Given the description of an element on the screen output the (x, y) to click on. 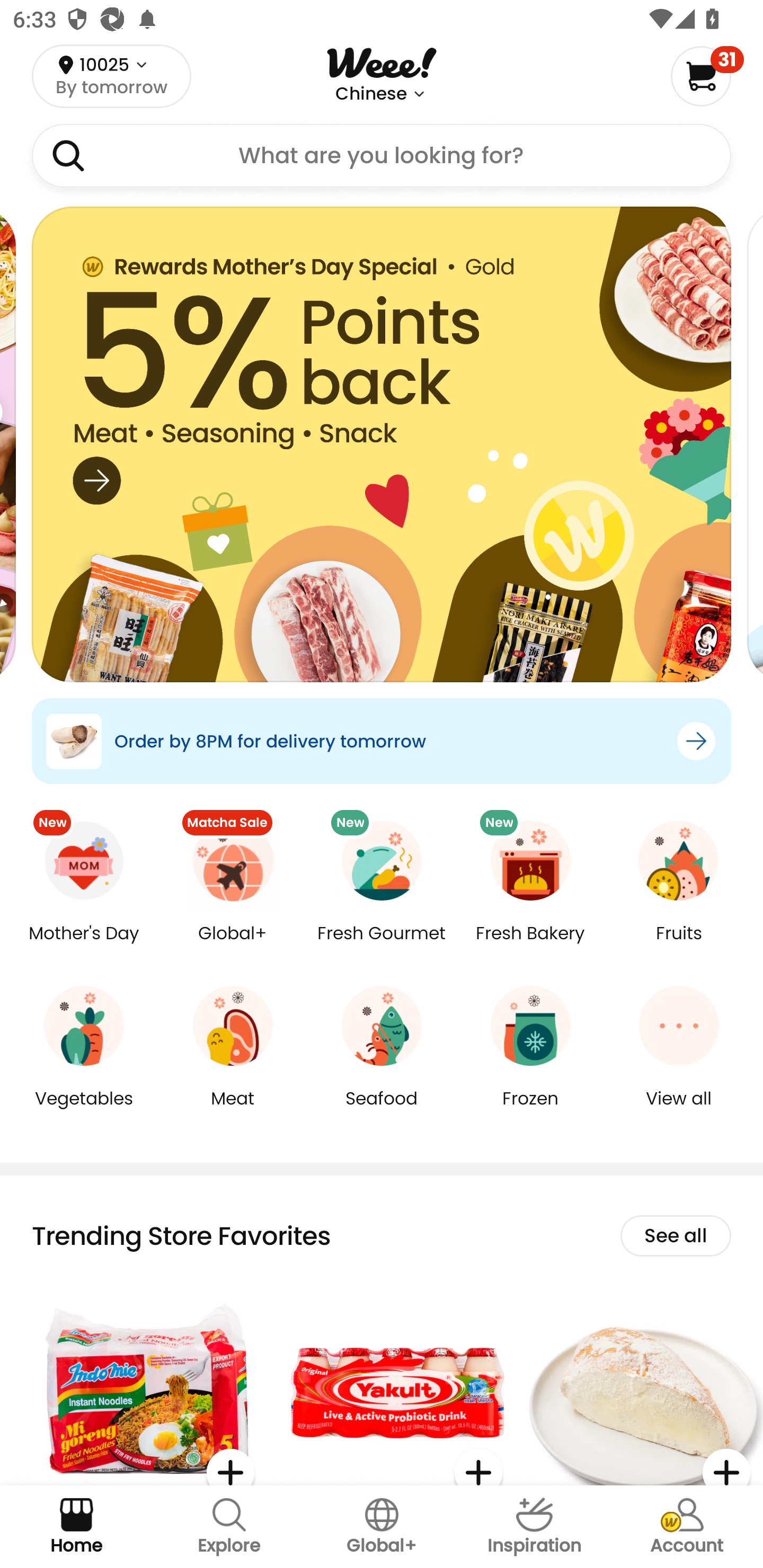
10025 By tomorrow (111, 75)
31 (706, 75)
Chinese (370, 93)
What are you looking for? (381, 155)
Order by 8PM for delivery tomorrow (381, 740)
Mother's Day (83, 946)
Global+ (232, 946)
Fresh Gourmet (381, 946)
Fresh Bakery (530, 946)
Fruits (678, 946)
Vegetables (83, 1111)
Meat (232, 1111)
Seafood (381, 1111)
Frozen (530, 1111)
View all (678, 1111)
Home (76, 1526)
Explore (228, 1526)
Global+ (381, 1526)
Inspiration (533, 1526)
Account (686, 1526)
